Given the description of an element on the screen output the (x, y) to click on. 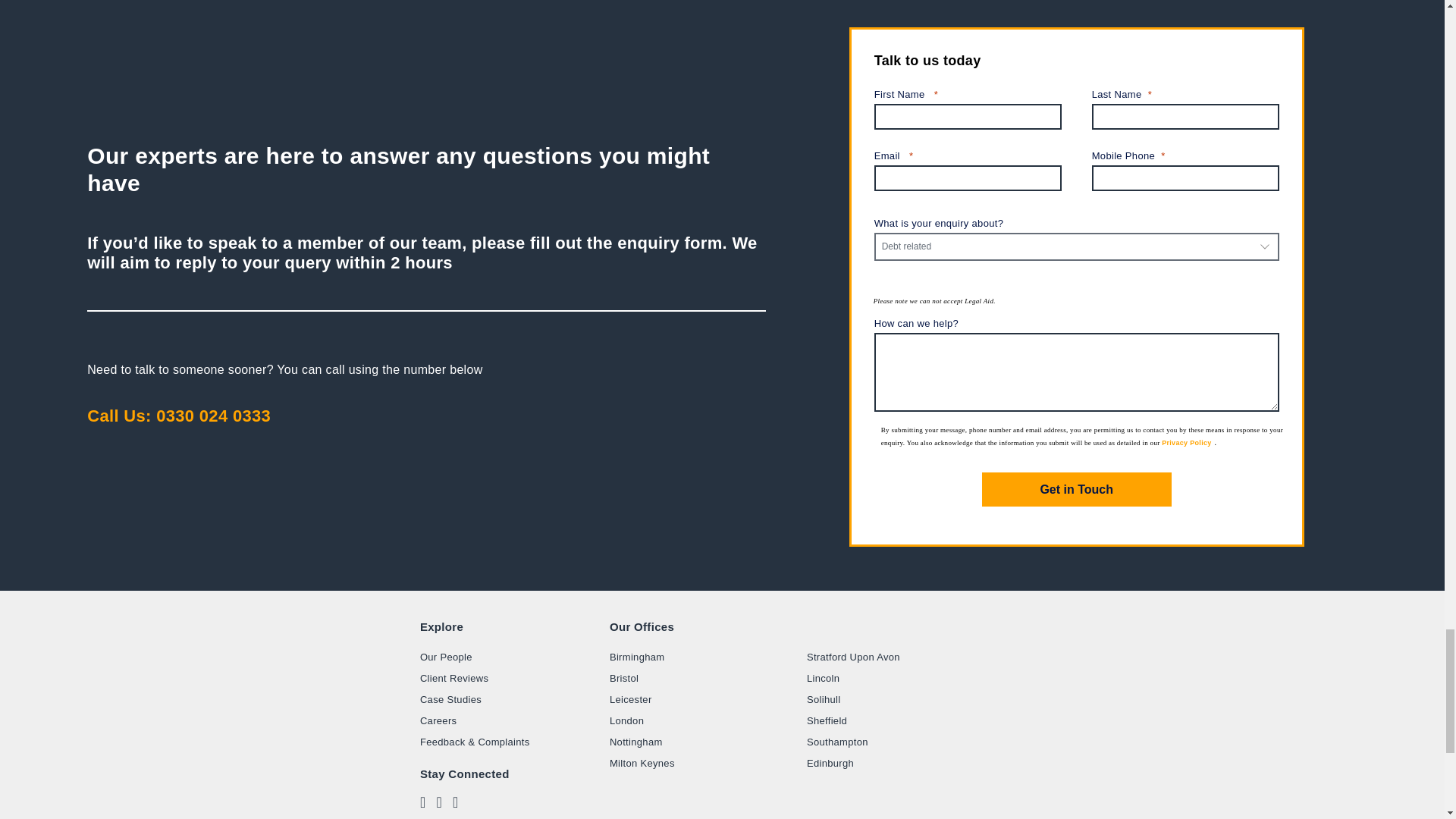
First Name (968, 116)
First Name (968, 94)
Last Name (1185, 94)
Email (968, 156)
Last Name (1185, 116)
